Given the description of an element on the screen output the (x, y) to click on. 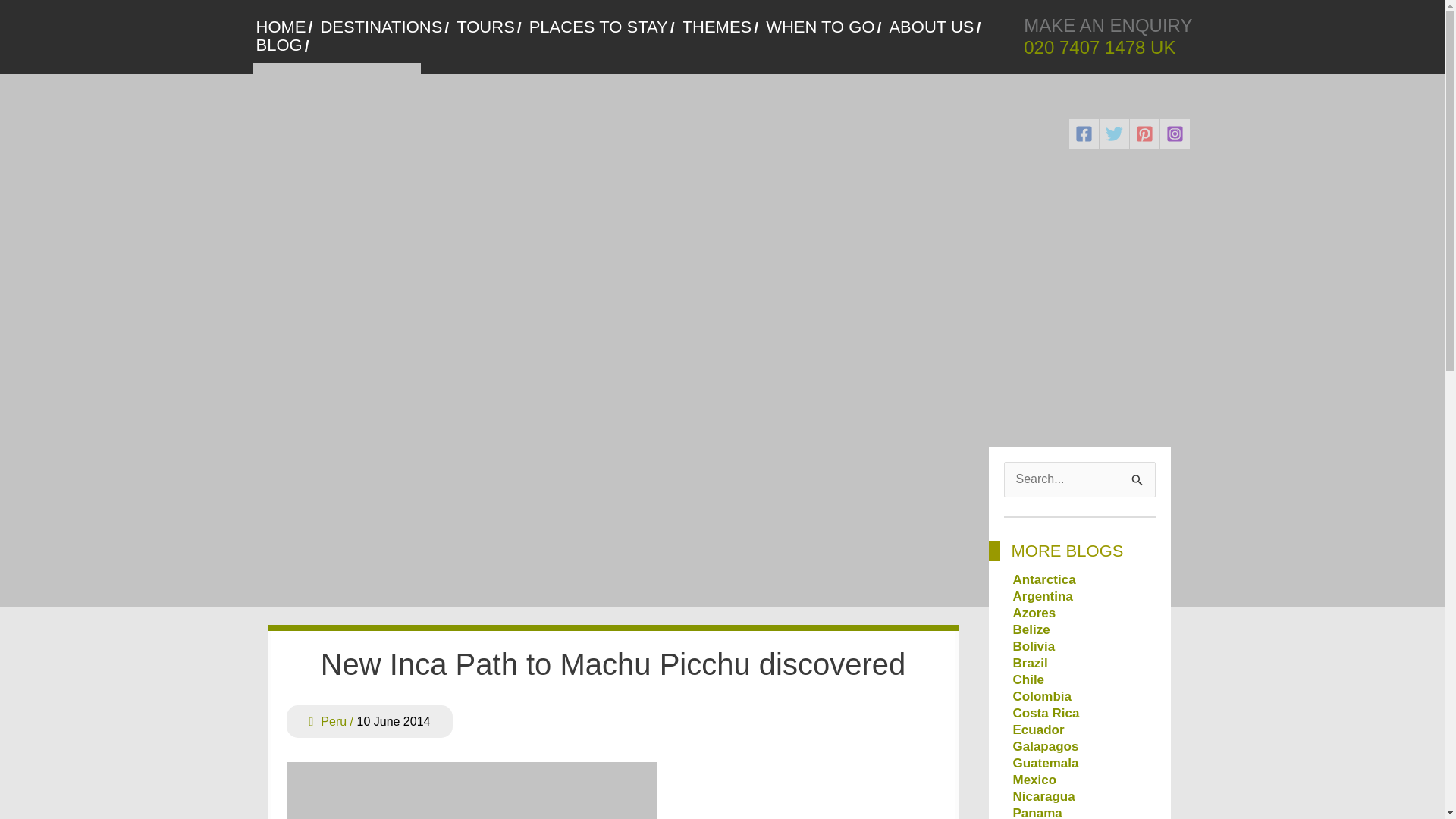
Search (1137, 477)
DESTINATIONS (383, 27)
HOME (283, 27)
Search (1137, 477)
TOURS (488, 27)
